Given the description of an element on the screen output the (x, y) to click on. 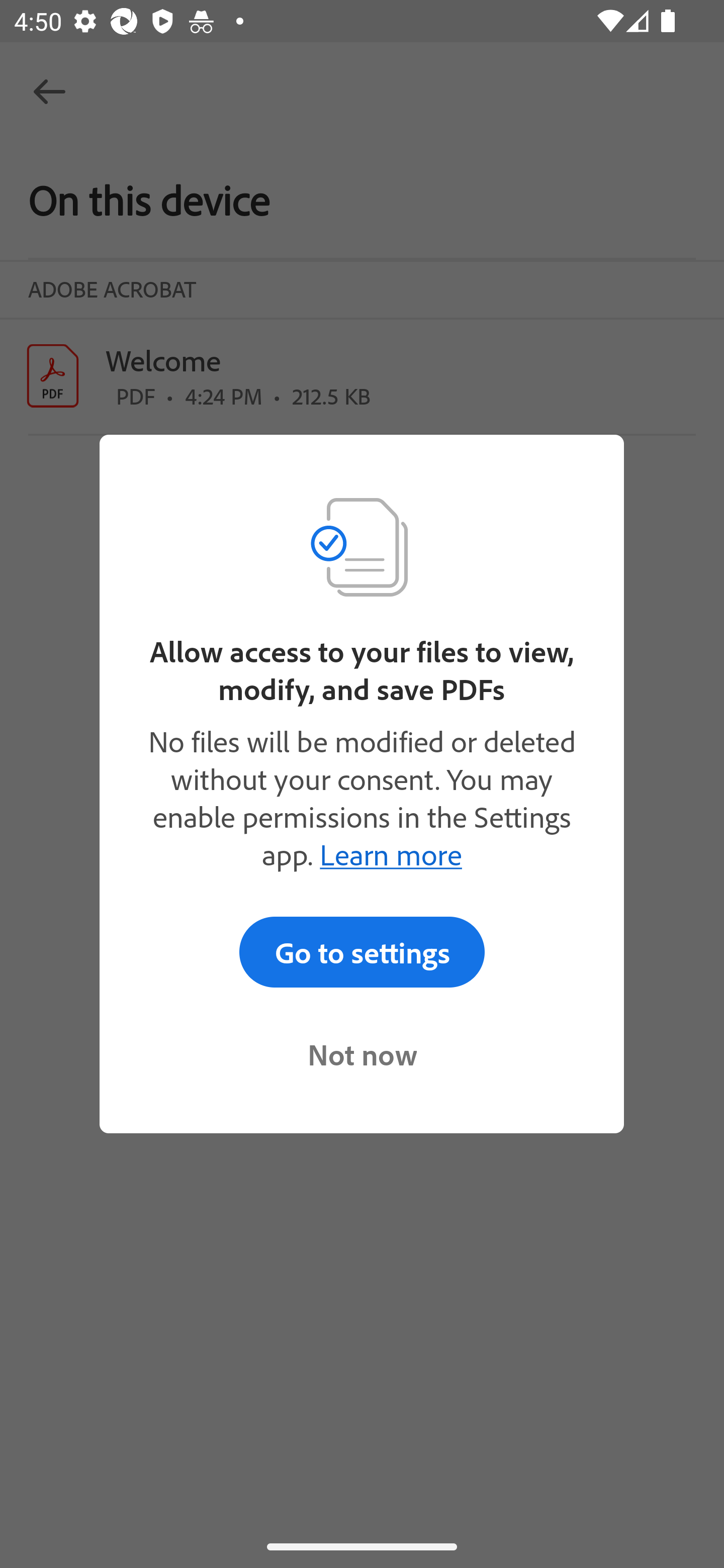
Go to settings (361, 952)
Not now (361, 1054)
